Given the description of an element on the screen output the (x, y) to click on. 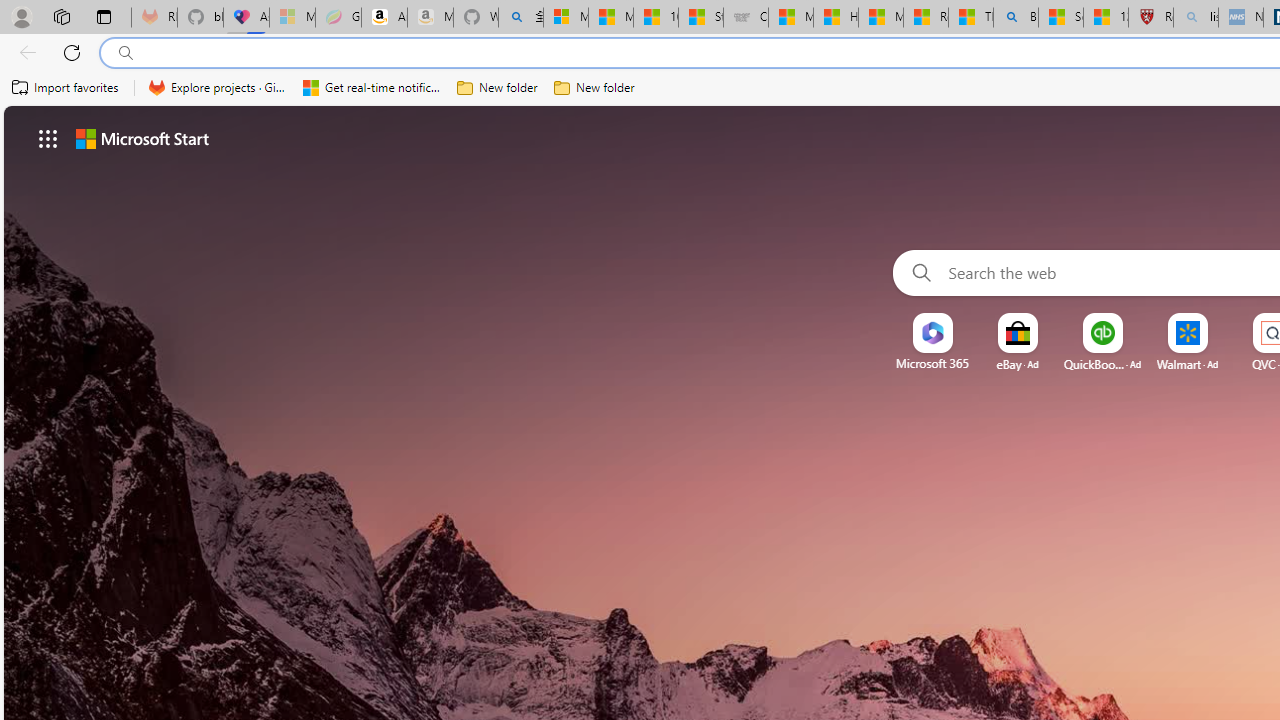
Import favorites (65, 88)
Bing (1016, 17)
Asthma Inhalers: Names and Types (246, 17)
12 Popular Science Lies that Must be Corrected (1105, 17)
App launcher (47, 138)
